Given the description of an element on the screen output the (x, y) to click on. 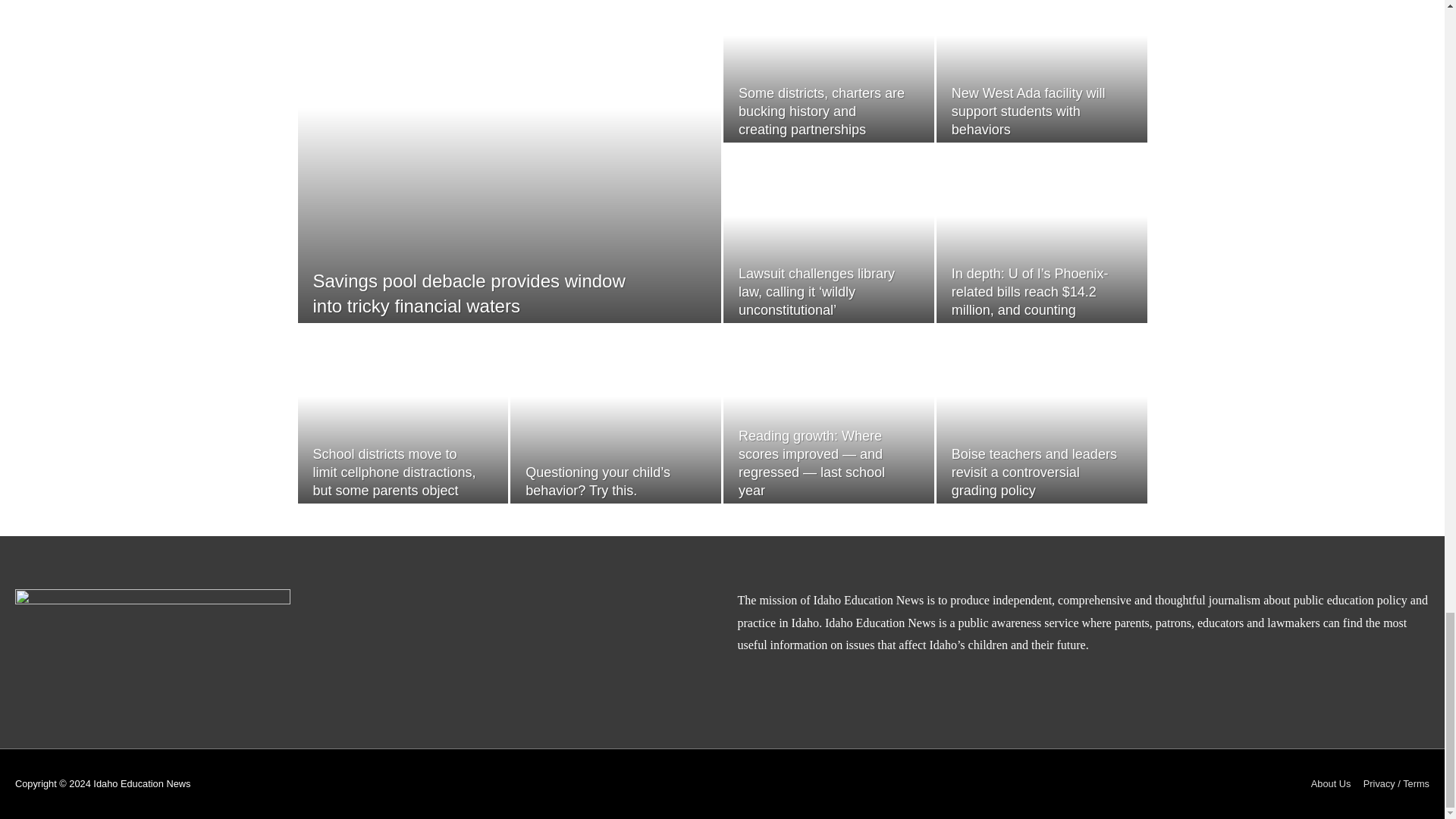
New West Ada facility will support students with behaviors (1028, 111)
